Given the description of an element on the screen output the (x, y) to click on. 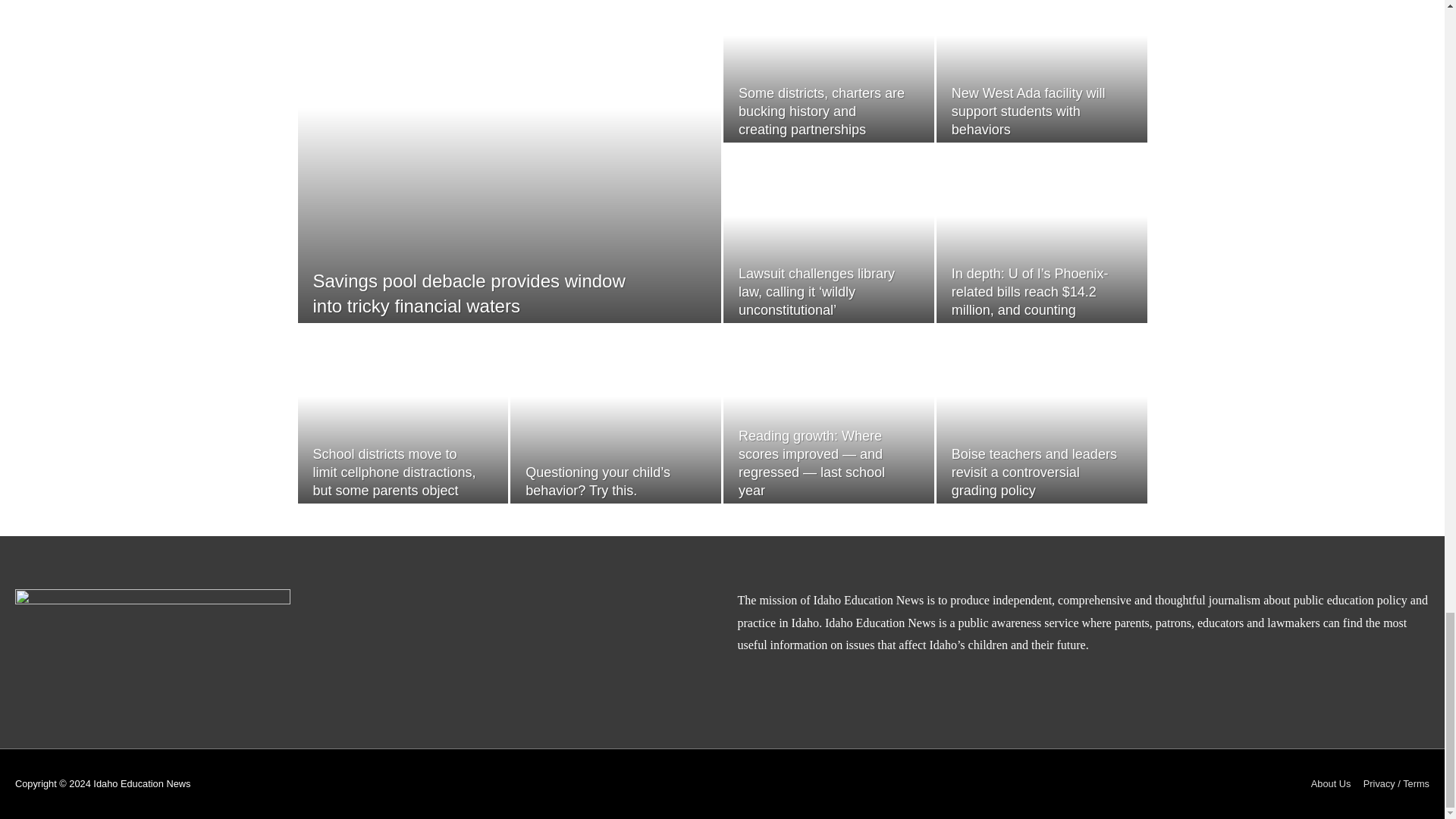
New West Ada facility will support students with behaviors (1028, 111)
